Given the description of an element on the screen output the (x, y) to click on. 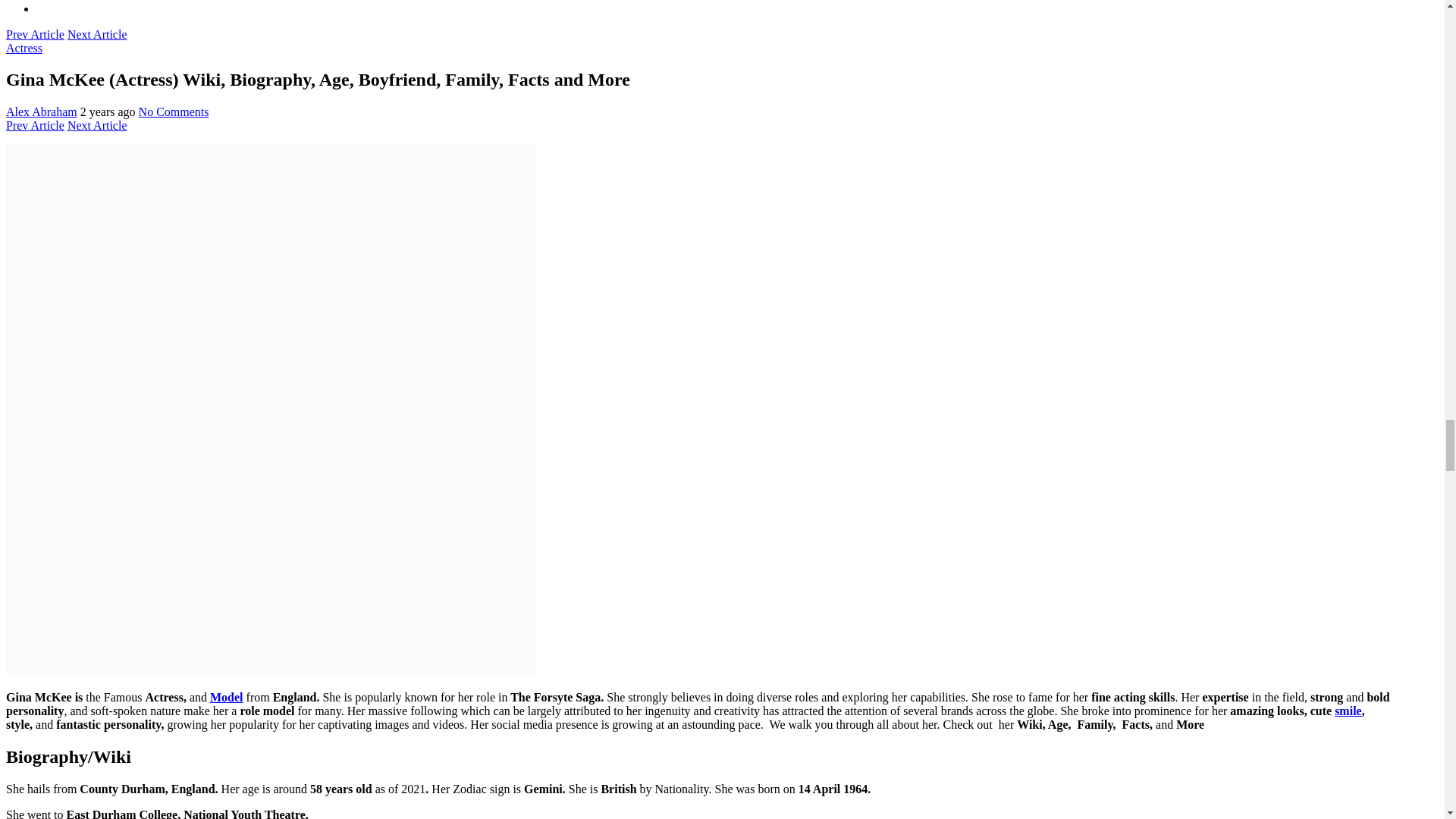
Prev Article (34, 33)
View all posts in Actress (23, 47)
Posts by Alex Abraham (41, 111)
